Given the description of an element on the screen output the (x, y) to click on. 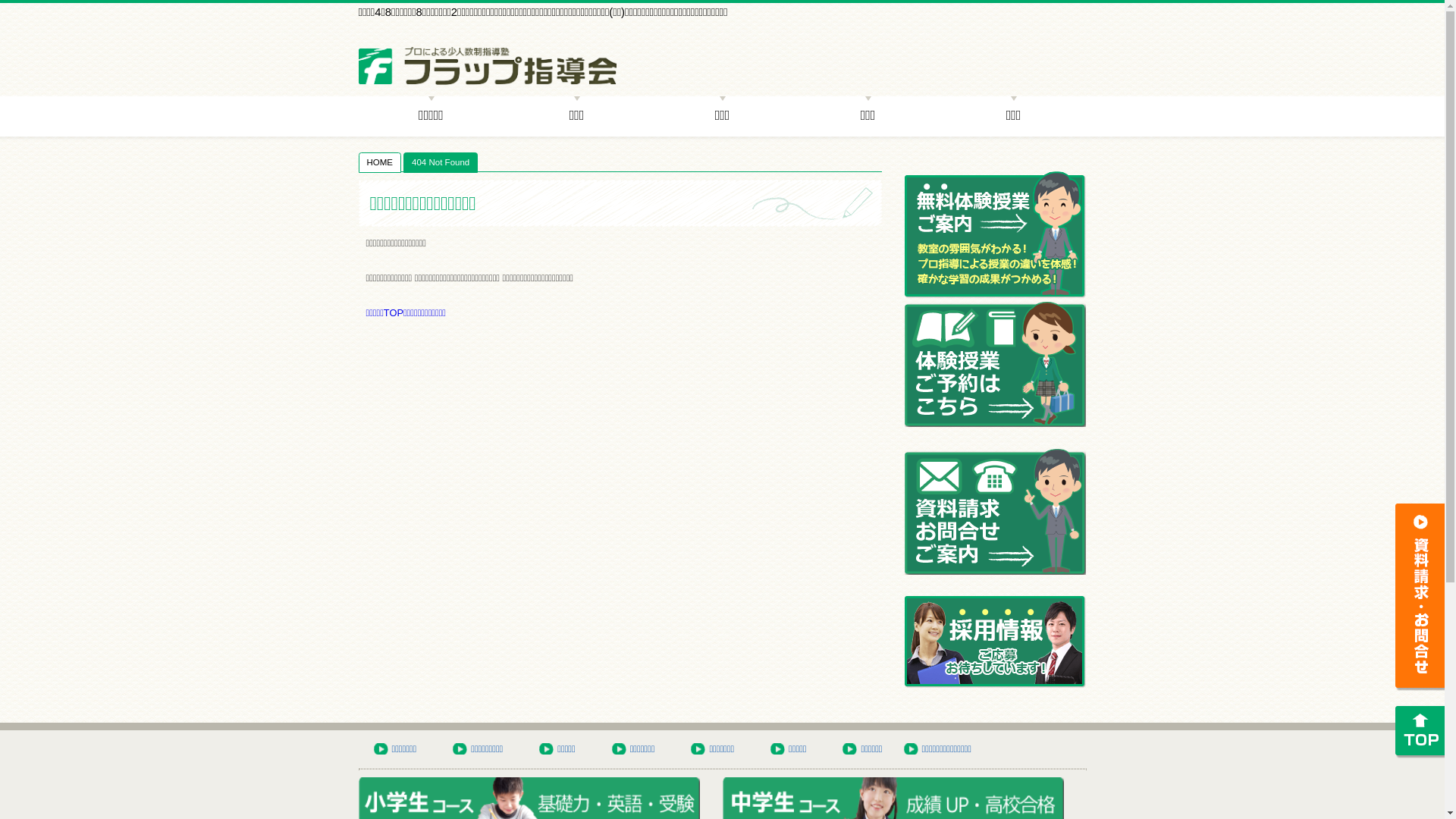
HOME Element type: text (380, 161)
